Given the description of an element on the screen output the (x, y) to click on. 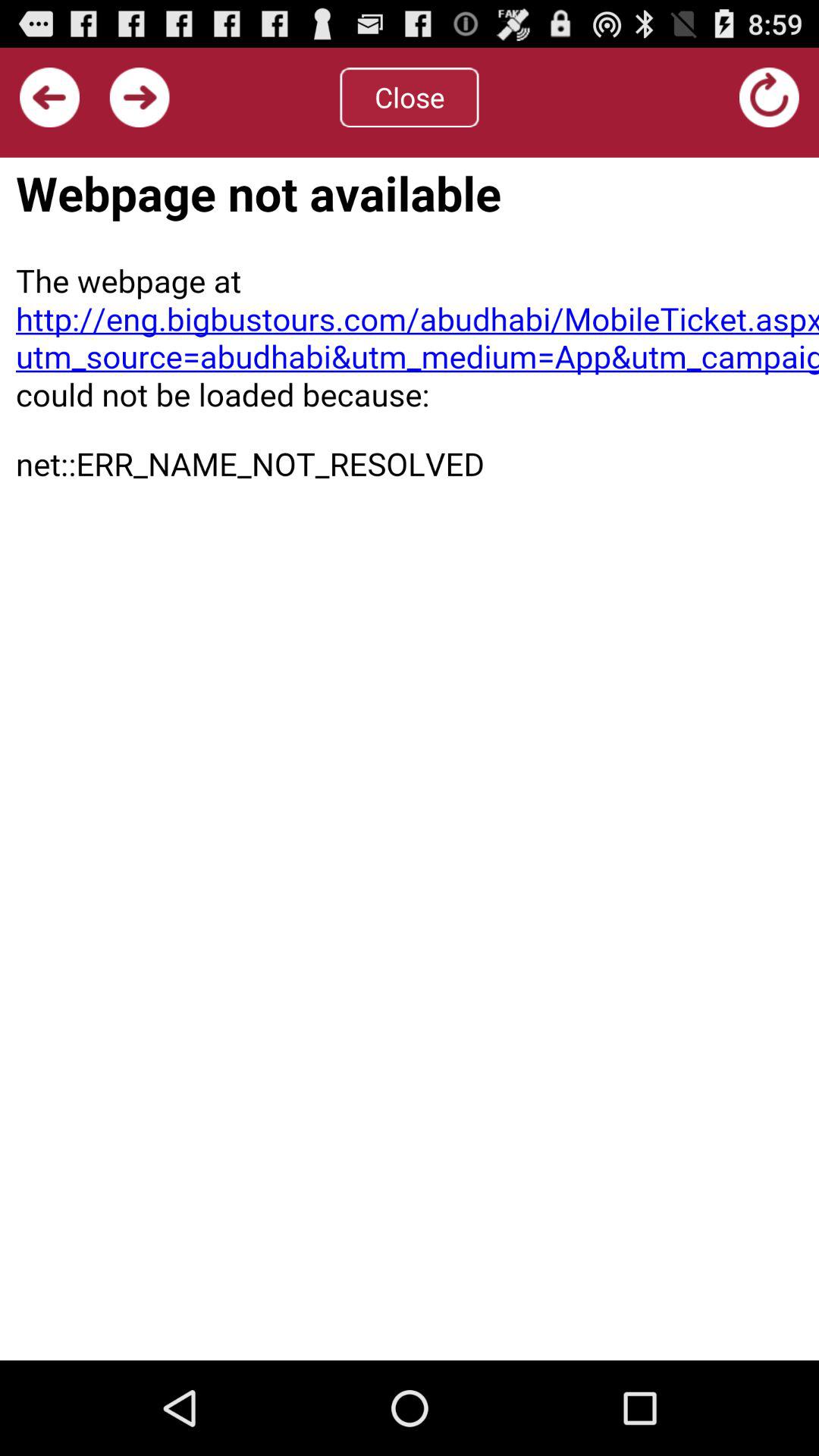
go to next button (139, 97)
